Given the description of an element on the screen output the (x, y) to click on. 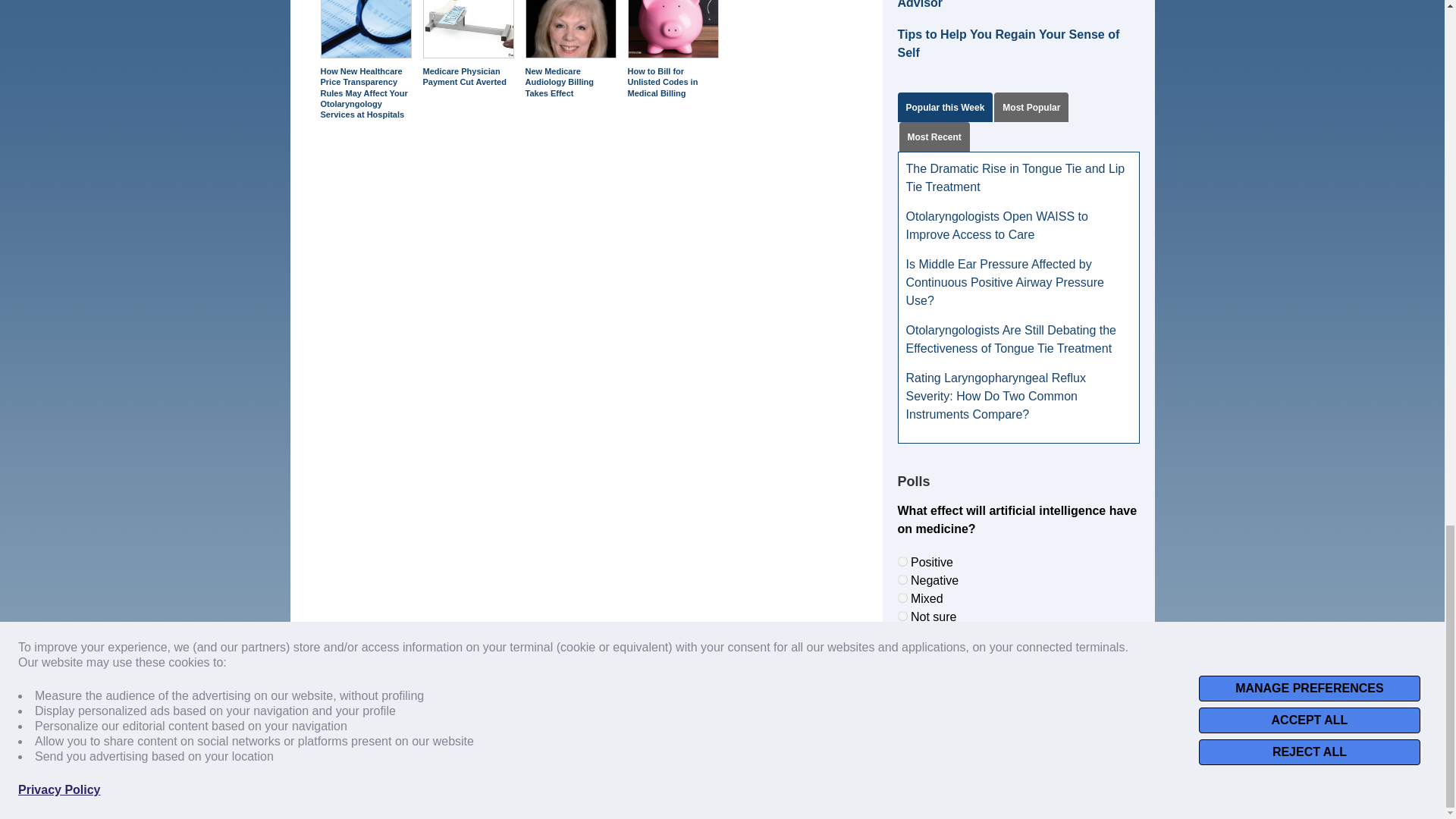
How to Bill for Unlisted Codes in Medical Billing (673, 29)
New Medicare Audiology Billing Takes Effect (569, 29)
304 (902, 561)
   Vote    (1017, 651)
306 (902, 597)
305 (902, 579)
307 (902, 615)
Medicare Physician Payment Cut Averted (468, 29)
